Given the description of an element on the screen output the (x, y) to click on. 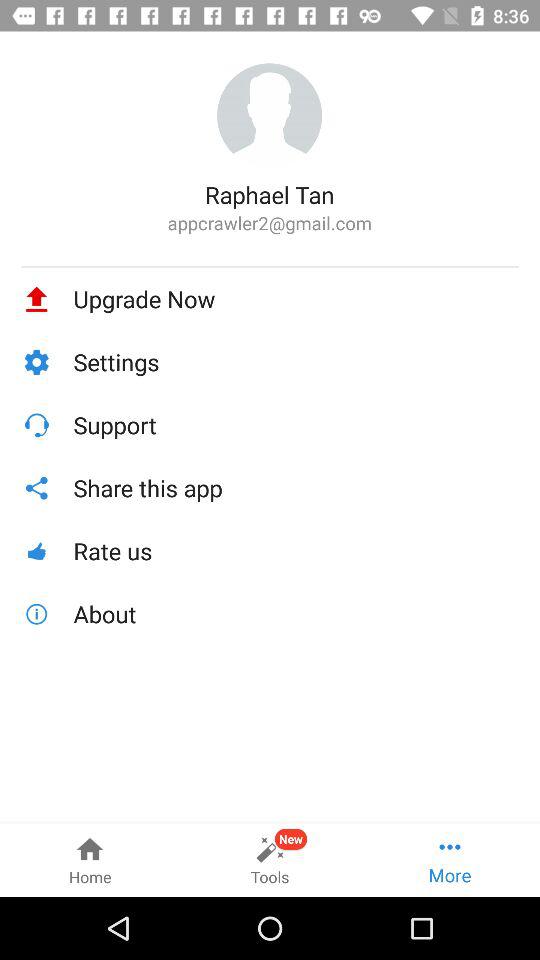
jump until raphael tan icon (269, 194)
